Given the description of an element on the screen output the (x, y) to click on. 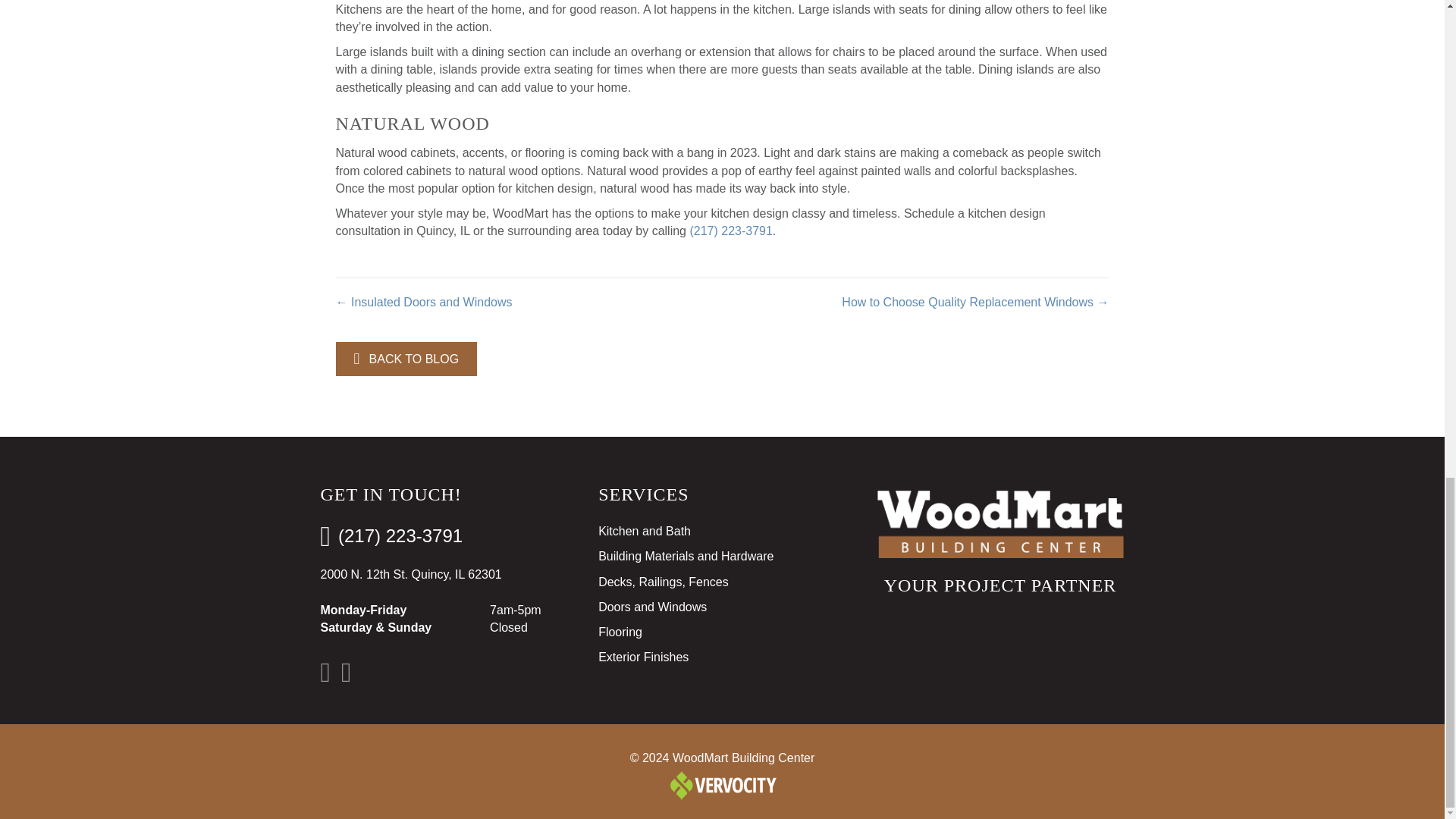
vervocity-logo-150-white (721, 784)
BACK TO BLOG (405, 358)
Call WoodMart (729, 230)
Decks, Railings, Fences (721, 585)
Flooring (721, 635)
Exterior Finishes (721, 660)
Building Materials and Hardware (721, 559)
WoodMart Building Center Logo (1000, 523)
Kitchen and Bath (721, 534)
Doors and Windows (721, 610)
